Given the description of an element on the screen output the (x, y) to click on. 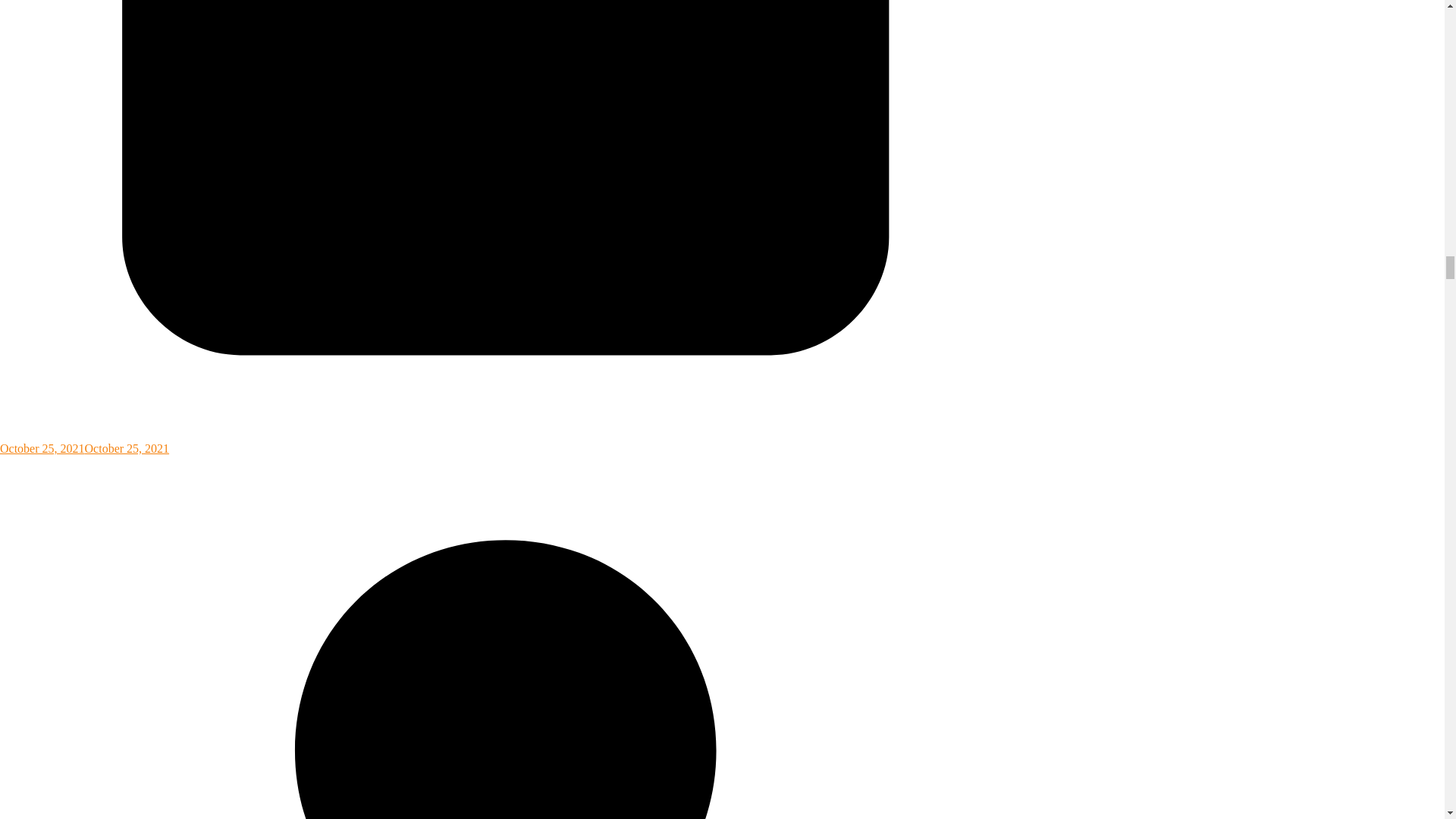
October 25, 2021October 25, 2021 (505, 441)
11:05 pm (505, 441)
